Given the description of an element on the screen output the (x, y) to click on. 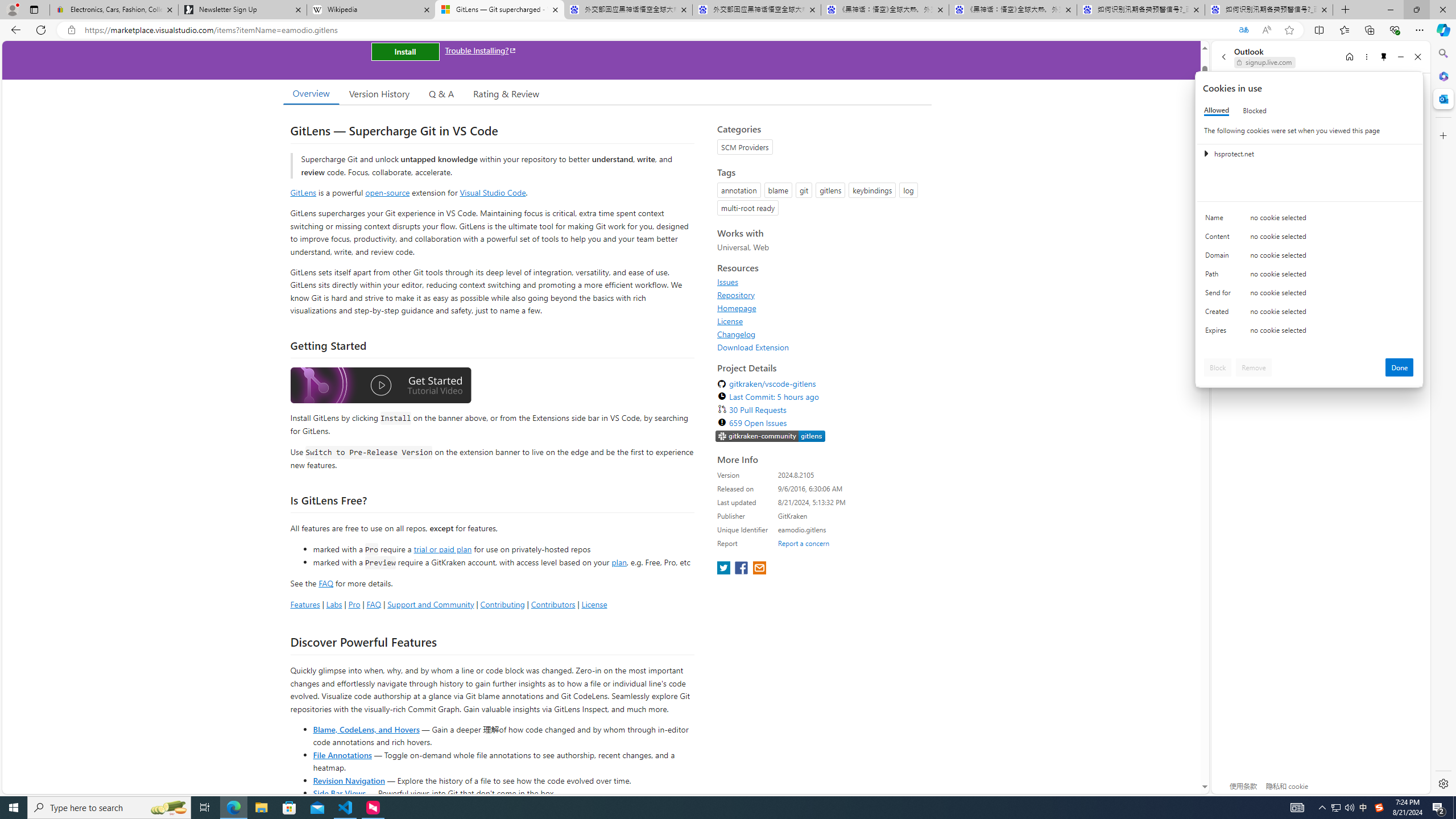
Allowed (1216, 110)
Class: c0153 c0157 (1309, 332)
Block (1217, 367)
Expires (1219, 332)
Domain (1219, 257)
no cookie selected (1331, 332)
Created (1219, 313)
Name (1219, 220)
Blocked (1255, 110)
Done (1399, 367)
Content (1219, 239)
Path (1219, 276)
Class: c0153 c0157 c0154 (1309, 220)
Remove (1253, 367)
Send for (1219, 295)
